Given the description of an element on the screen output the (x, y) to click on. 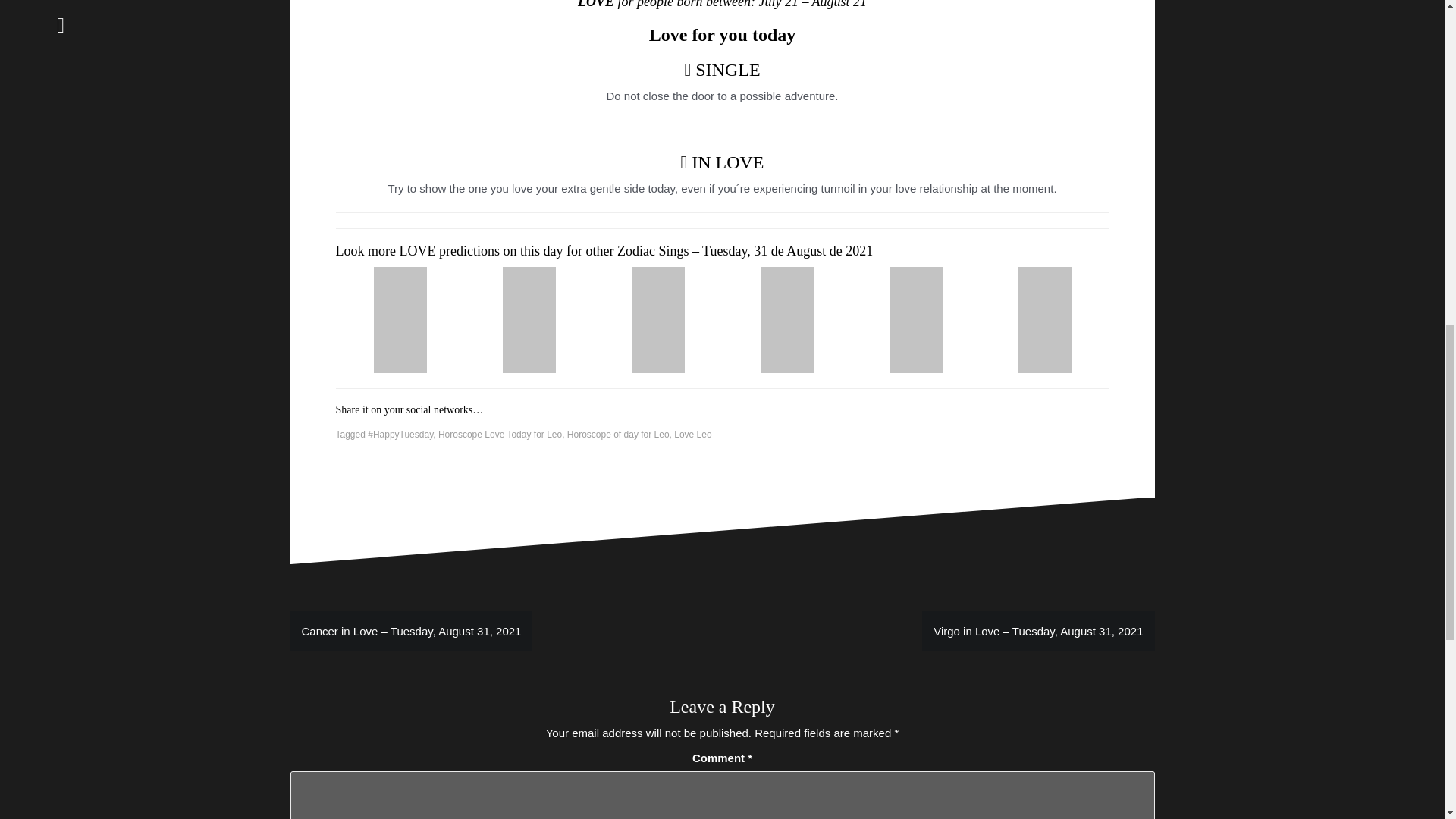
Horoscope Love Today for Leo (500, 434)
Horoscope of day for Leo (618, 434)
Love Leo (692, 434)
